Given the description of an element on the screen output the (x, y) to click on. 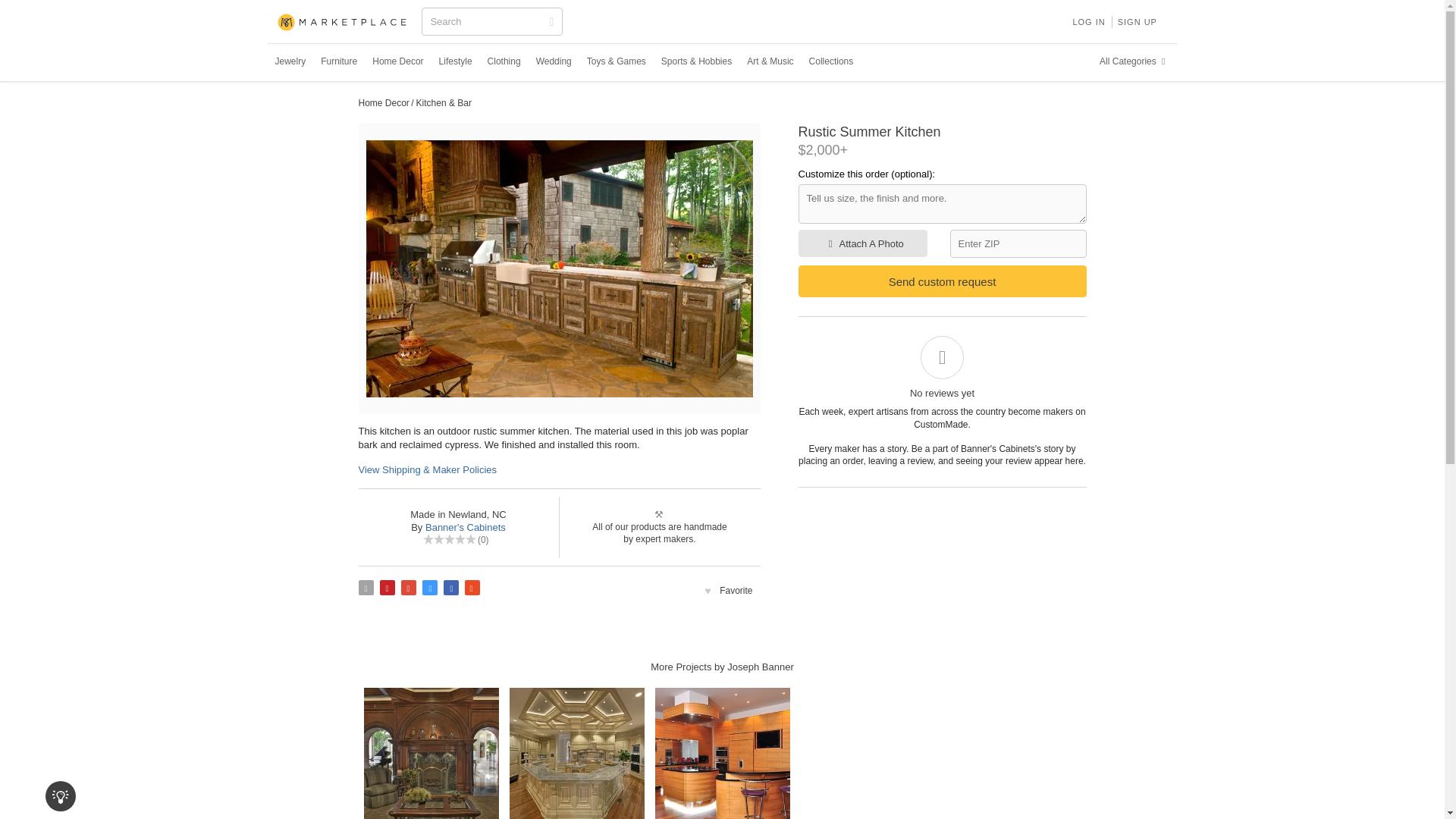
Jewelry (289, 61)
CUSTOMMADE (342, 22)
All Categories (1134, 61)
Custom Jewelry (289, 61)
LOG IN (1087, 21)
Log in to CustomMade (1087, 21)
SIGN UP (1137, 21)
